Given the description of an element on the screen output the (x, y) to click on. 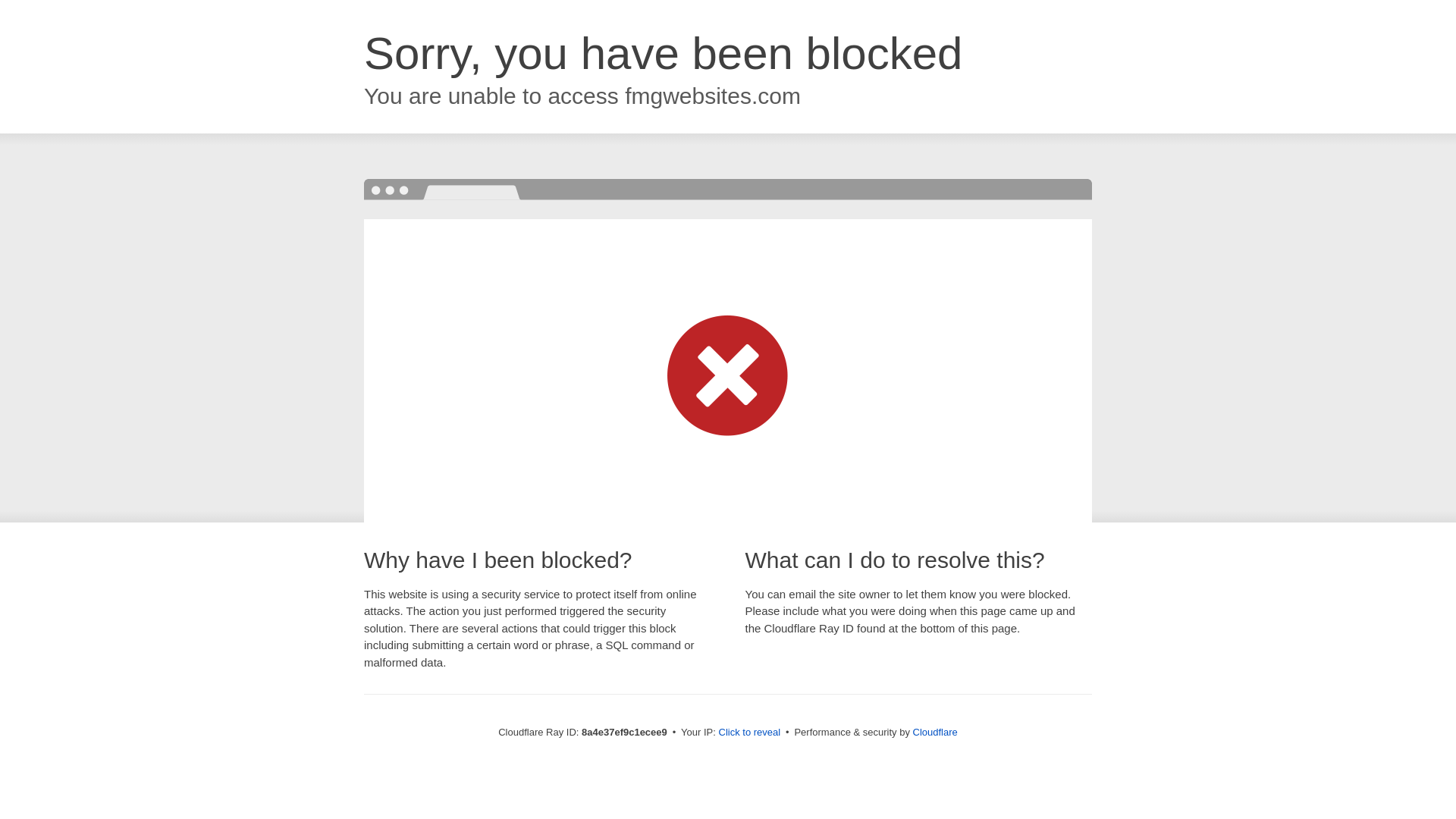
Cloudflare (935, 731)
Click to reveal (749, 732)
